Given the description of an element on the screen output the (x, y) to click on. 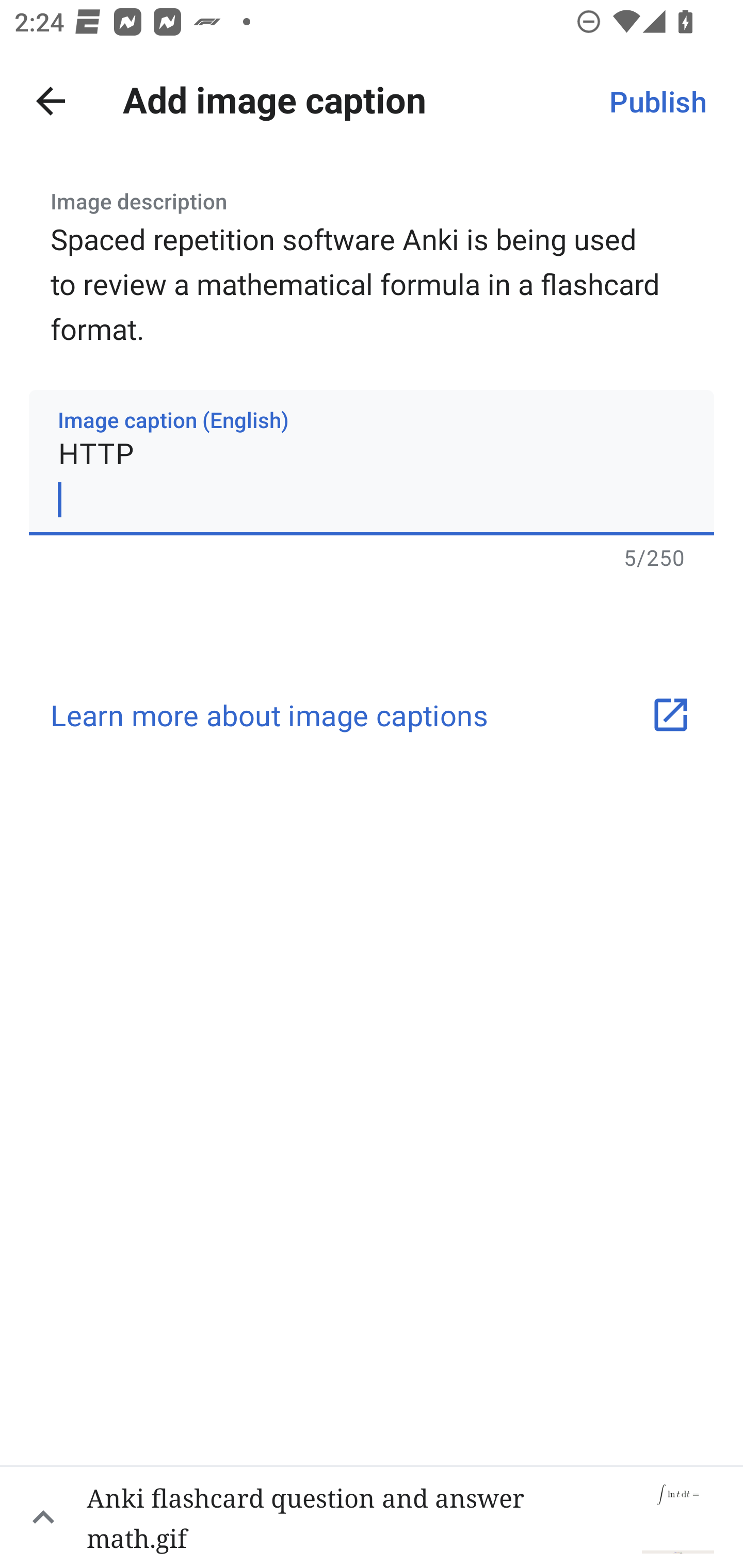
Cancel (50, 101)
Publish (657, 101)
HTTP
 (371, 462)
Learn more about image captions (371, 714)
Anki flashcard question and answer math.gif (371, 1516)
